Given the description of an element on the screen output the (x, y) to click on. 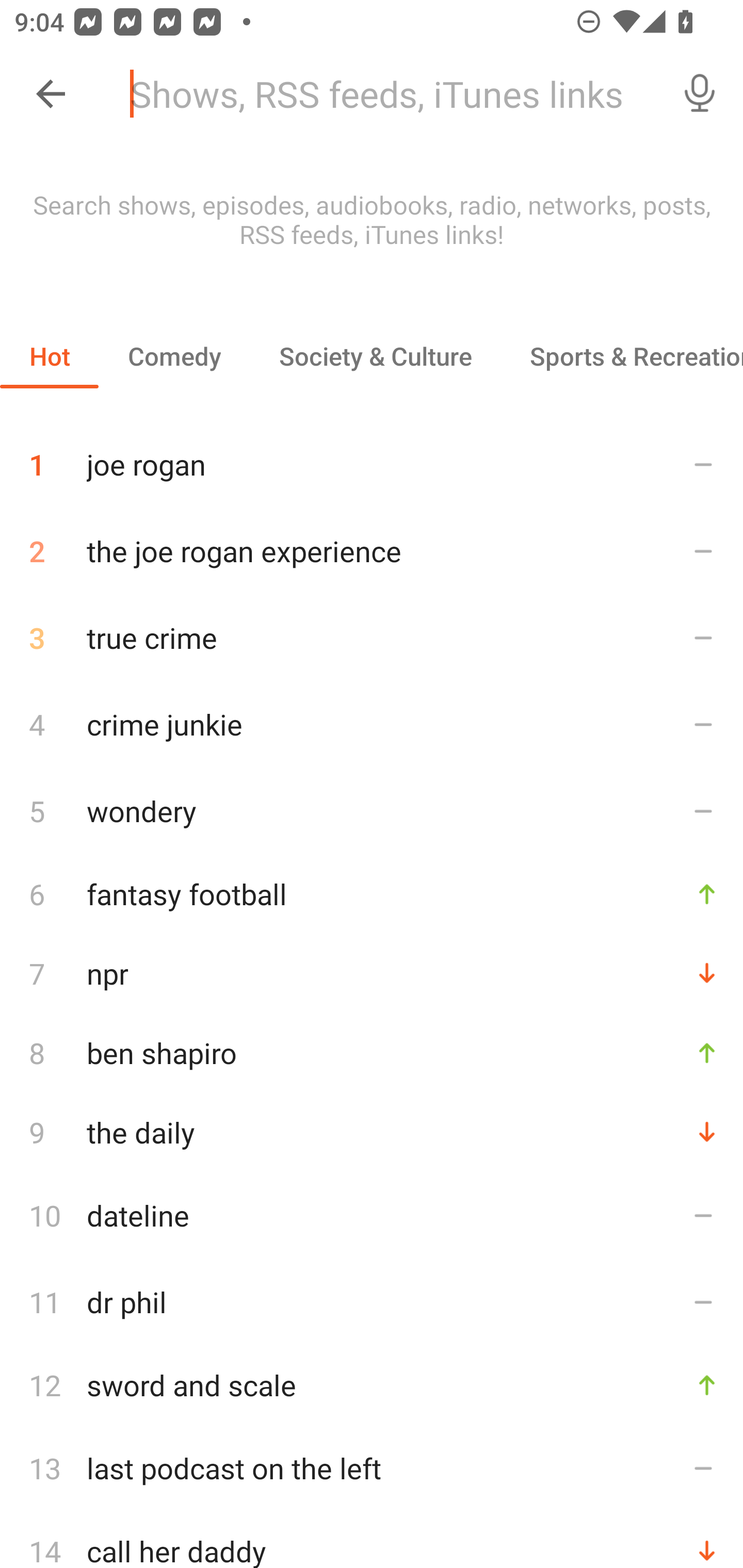
Collapse (50, 93)
Voice Search (699, 93)
Shows, RSS feeds, iTunes links (385, 94)
Hot (49, 355)
Comedy (173, 355)
Society & Culture (374, 355)
Sports & Recreation (621, 355)
1 joe rogan (371, 457)
2 the joe rogan experience (371, 551)
3 true crime (371, 637)
4 crime junkie (371, 723)
5 wondery (371, 810)
6 fantasy football (371, 893)
7 npr (371, 972)
8 ben shapiro (371, 1052)
9 the daily (371, 1131)
10 dateline (371, 1215)
11 dr phil (371, 1302)
12 sword and scale (371, 1385)
13 last podcast on the left (371, 1468)
14 call her daddy (371, 1539)
